Given the description of an element on the screen output the (x, y) to click on. 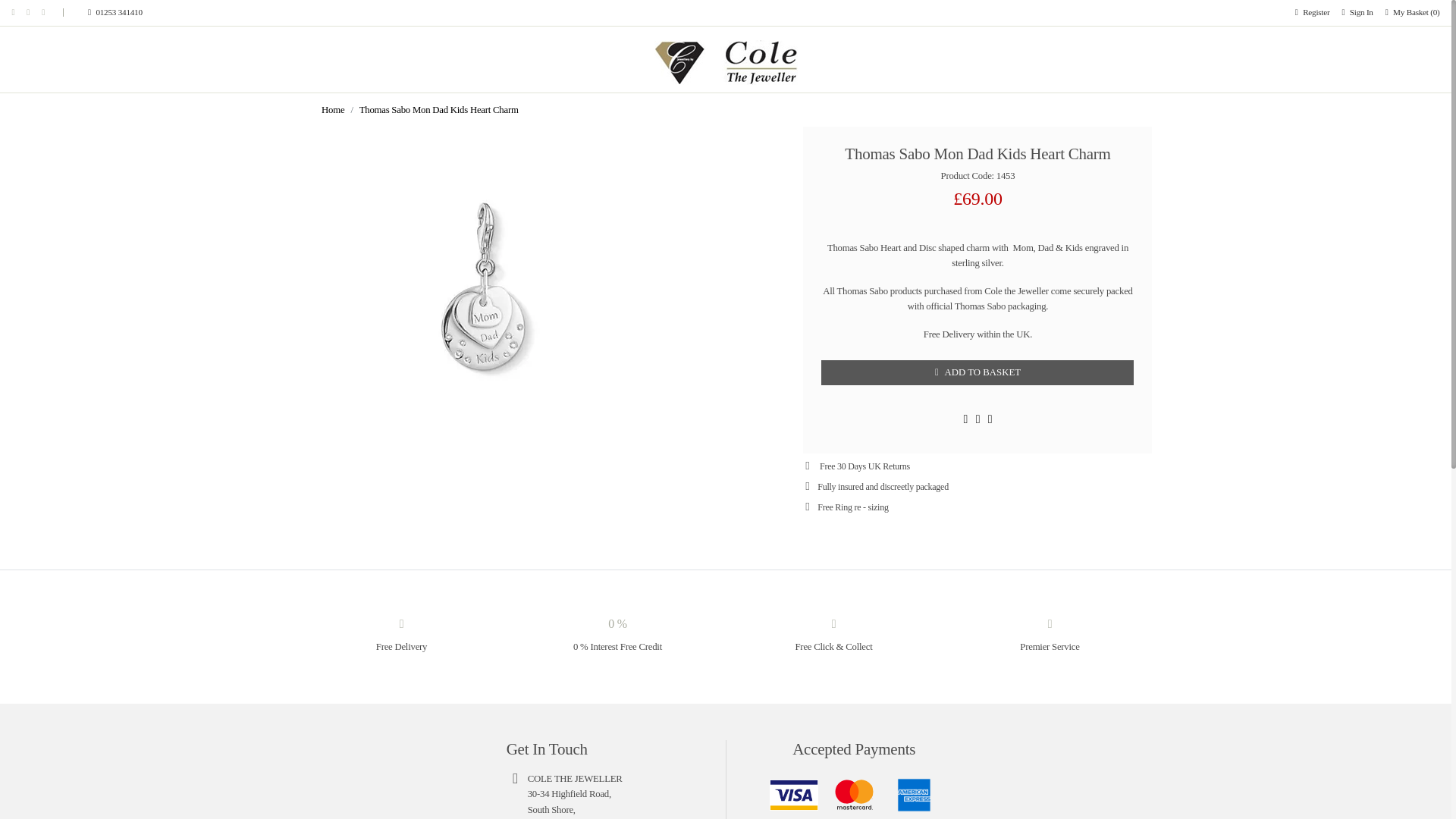
ADD TO BASKET (977, 372)
01253 341410 (99, 12)
Register (1312, 12)
Sign In (1356, 12)
Sign In (1356, 12)
Thomas Sabo Mon Dad Kids Heart Charm (438, 109)
Home (332, 109)
